Given the description of an element on the screen output the (x, y) to click on. 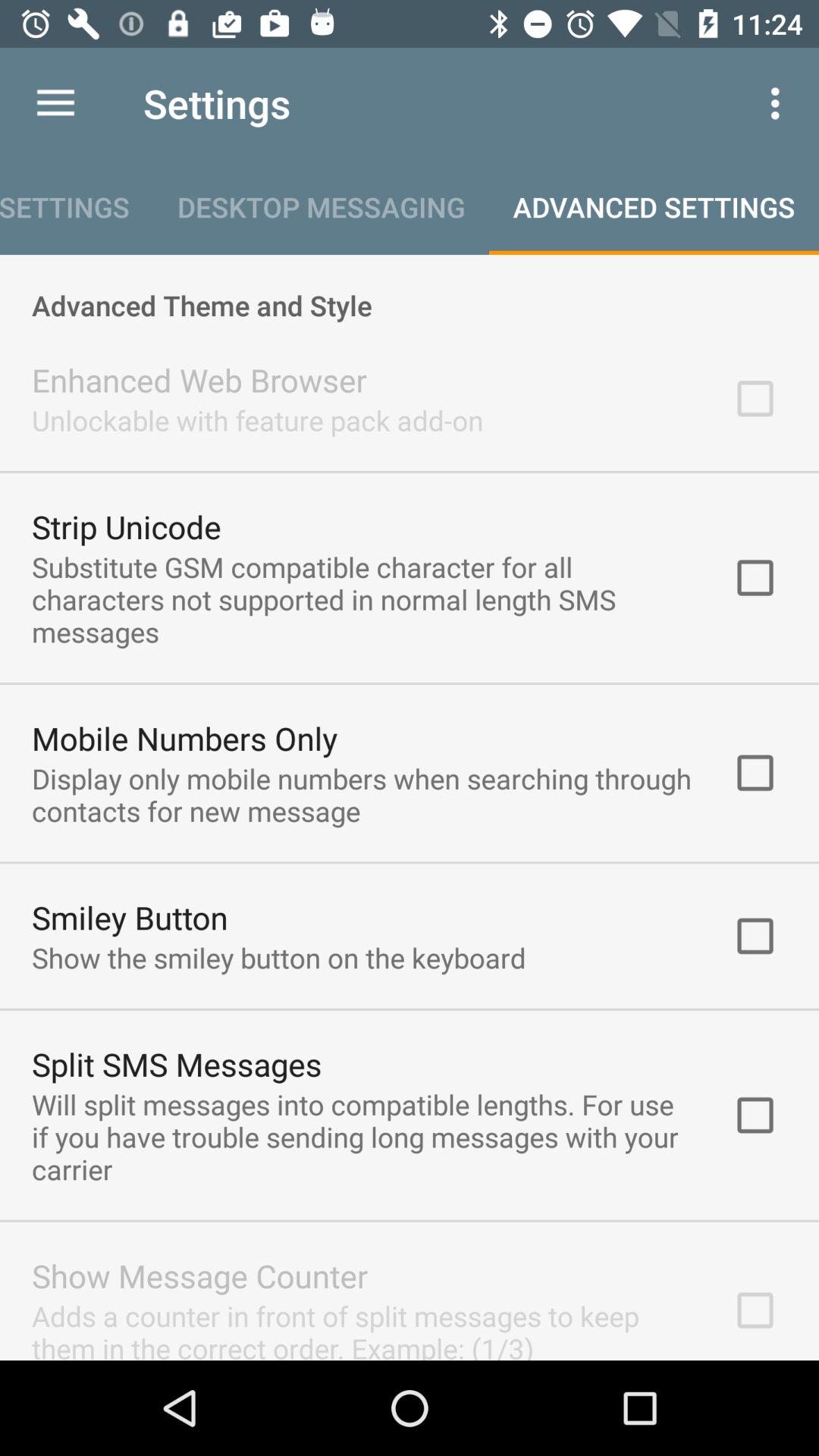
launch the icon to the right of settings icon (779, 103)
